Given the description of an element on the screen output the (x, y) to click on. 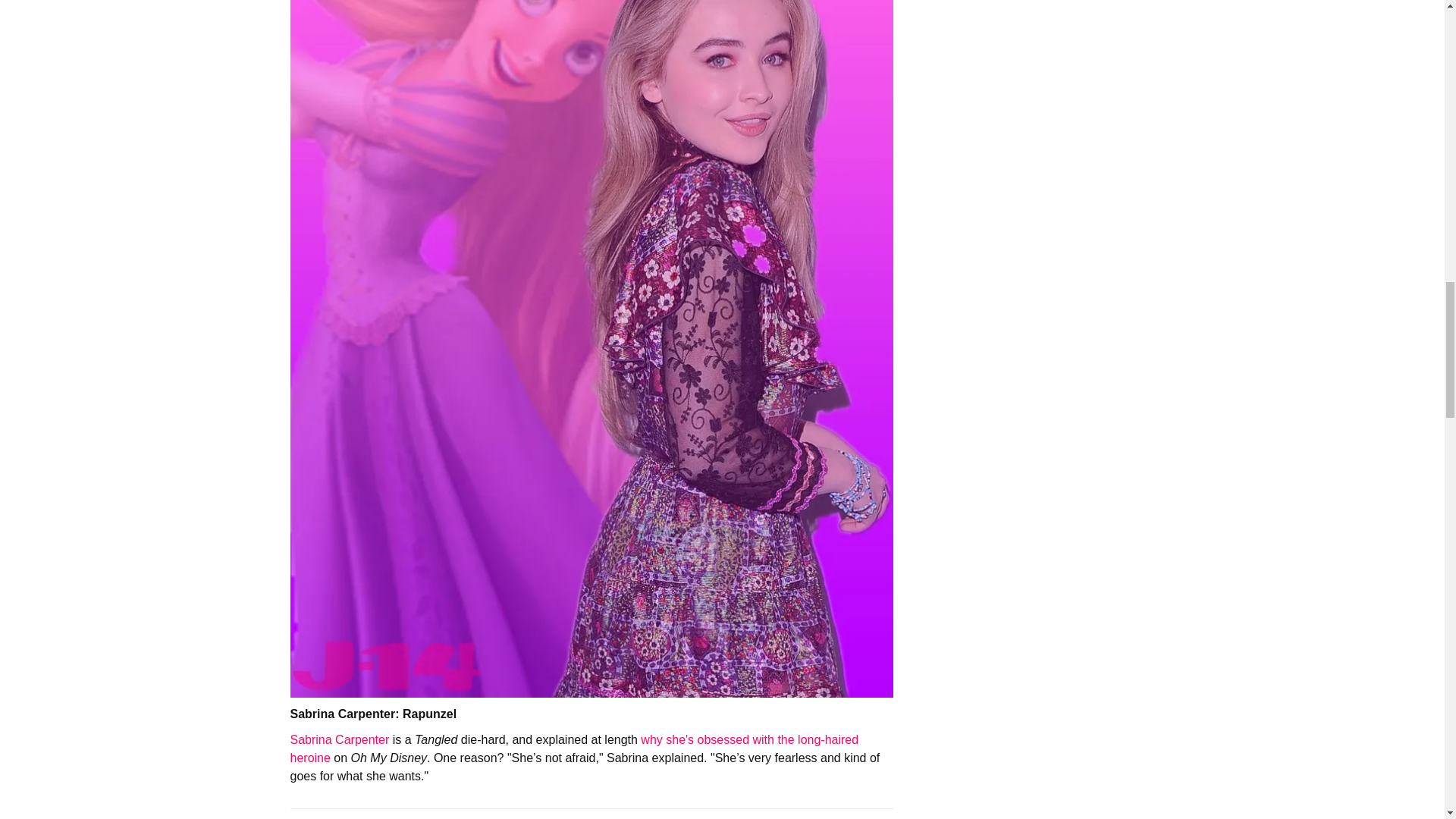
Sabrina Carpenter (338, 739)
why she's obsessed with the long-haired heroine (574, 748)
